Given the description of an element on the screen output the (x, y) to click on. 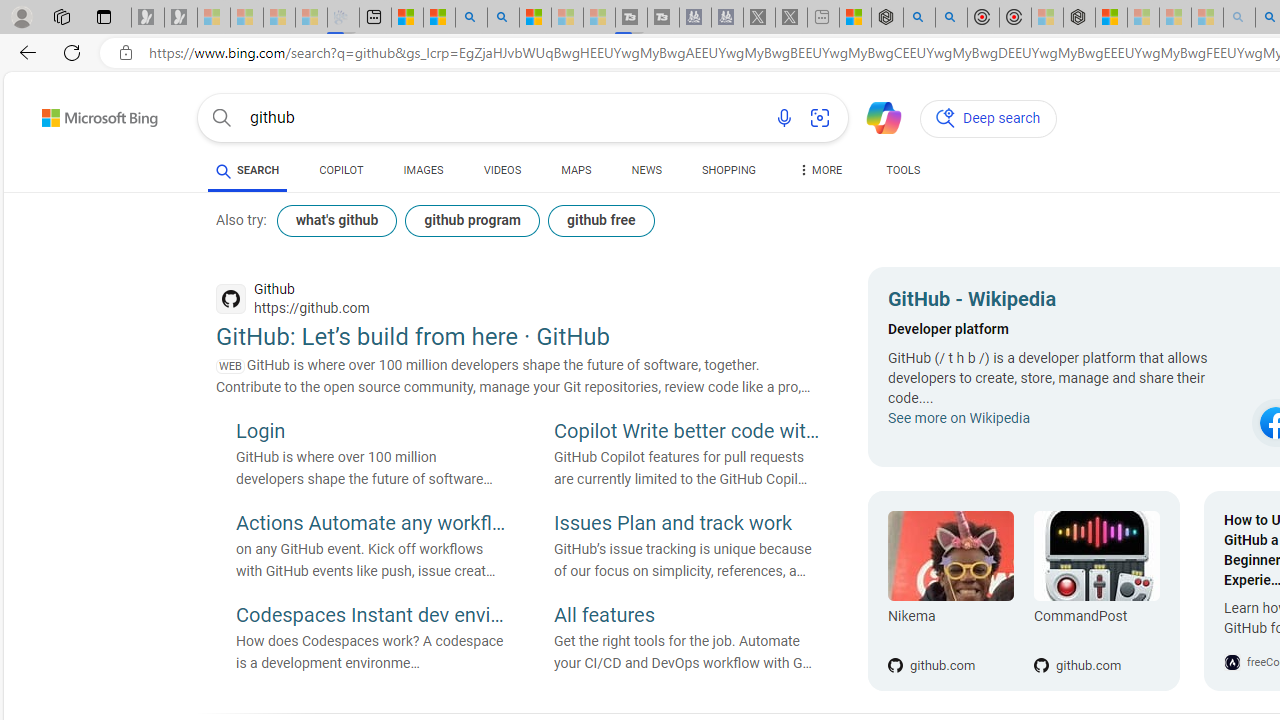
Newsletter Sign Up - Sleeping (181, 17)
IMAGES (423, 170)
MAPS (576, 173)
Issues Plan and track work (689, 525)
github free (600, 220)
GitHub - Wikipedia (1064, 302)
Global Web Icon (1232, 662)
